Given the description of an element on the screen output the (x, y) to click on. 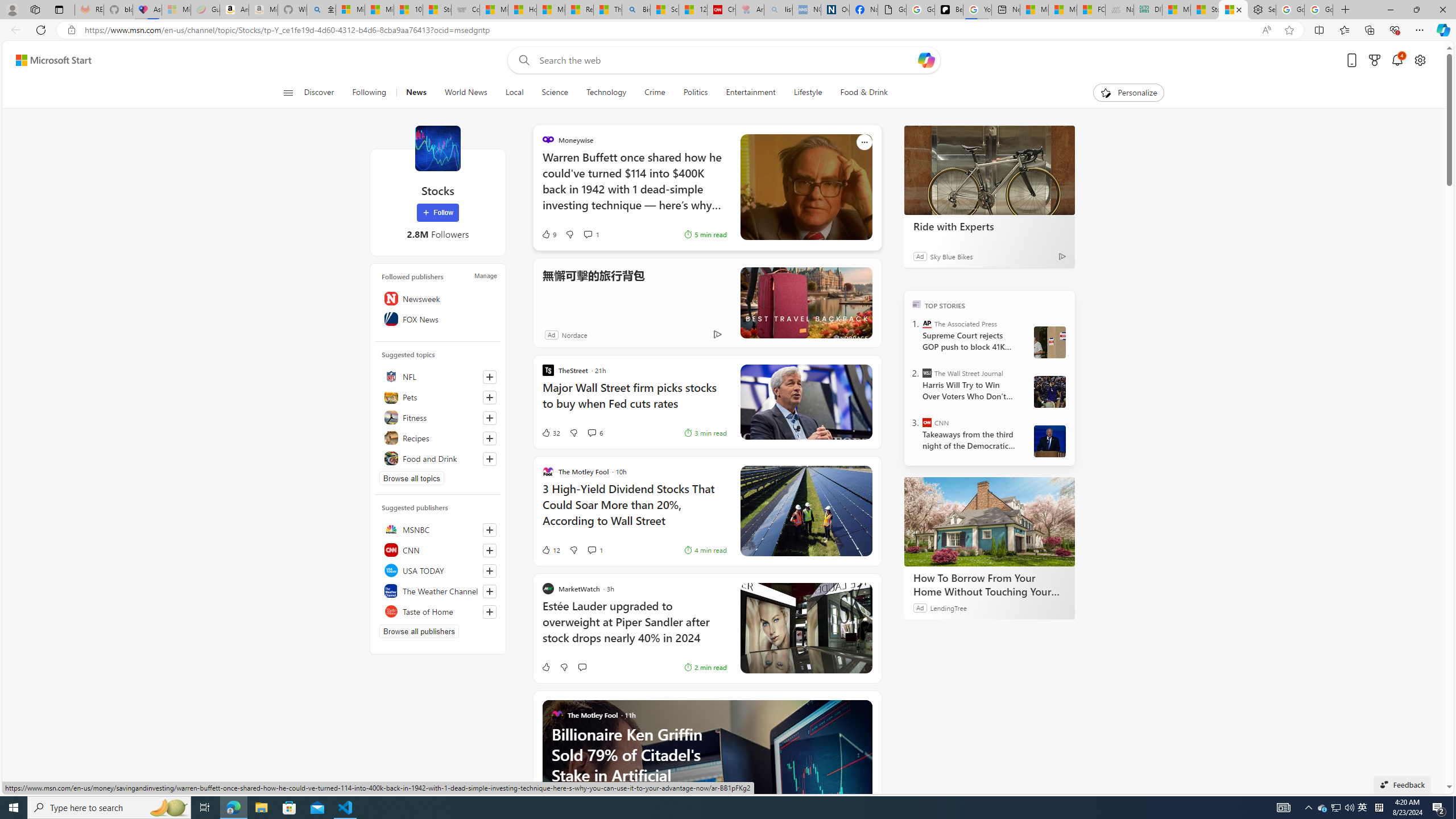
Open navigation menu (287, 92)
Recipes - MSN (579, 9)
Follow this topic (489, 458)
Local (514, 92)
Fitness (437, 417)
Open Copilot (926, 59)
Skip to footer (46, 59)
Politics (695, 92)
App bar (728, 29)
